Given the description of an element on the screen output the (x, y) to click on. 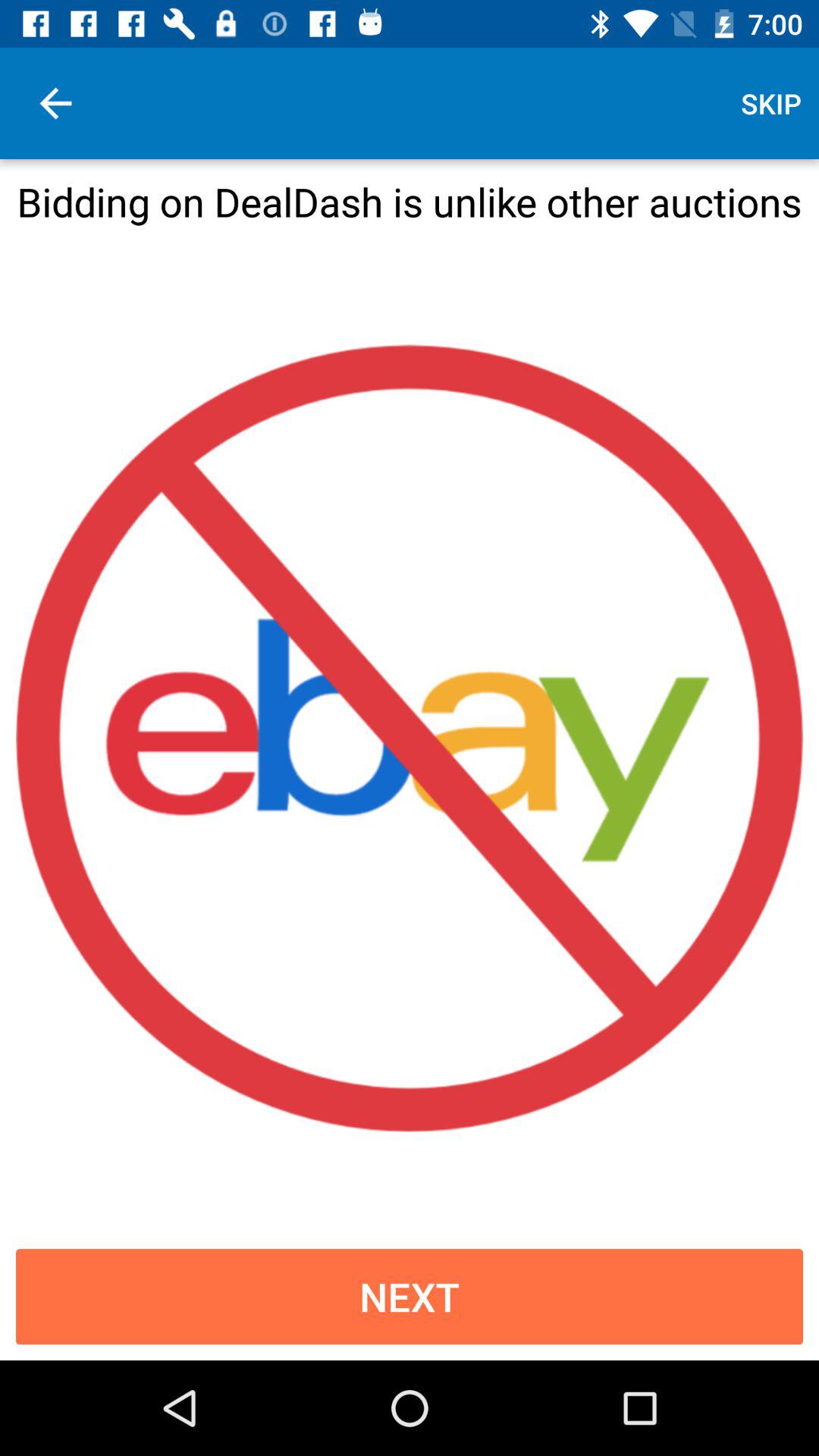
jump until skip (771, 103)
